Given the description of an element on the screen output the (x, y) to click on. 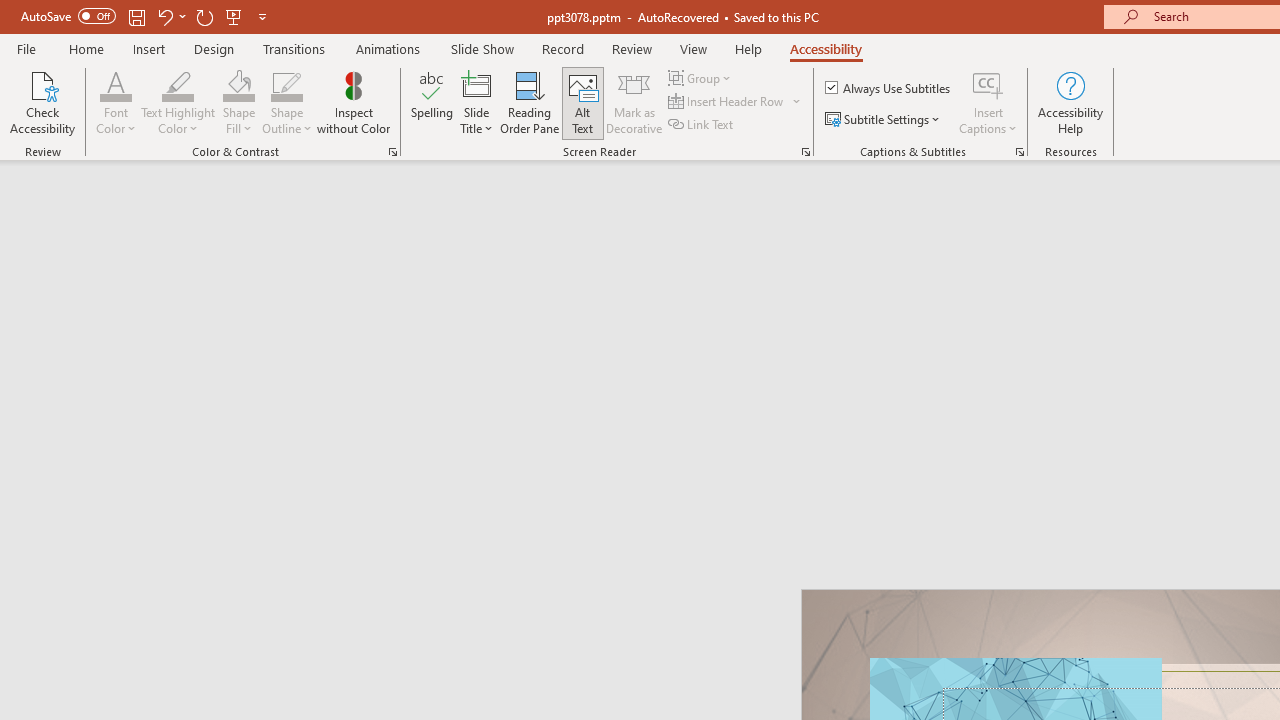
Alt Text (582, 102)
Mark as Decorative (634, 102)
Insert Header Row (727, 101)
Shape Fill (238, 102)
Check Accessibility (42, 102)
Spelling... (432, 102)
Insert Captions (988, 84)
Insert Captions (988, 102)
Shape Outline (286, 102)
Screen Reader (805, 151)
